Given the description of an element on the screen output the (x, y) to click on. 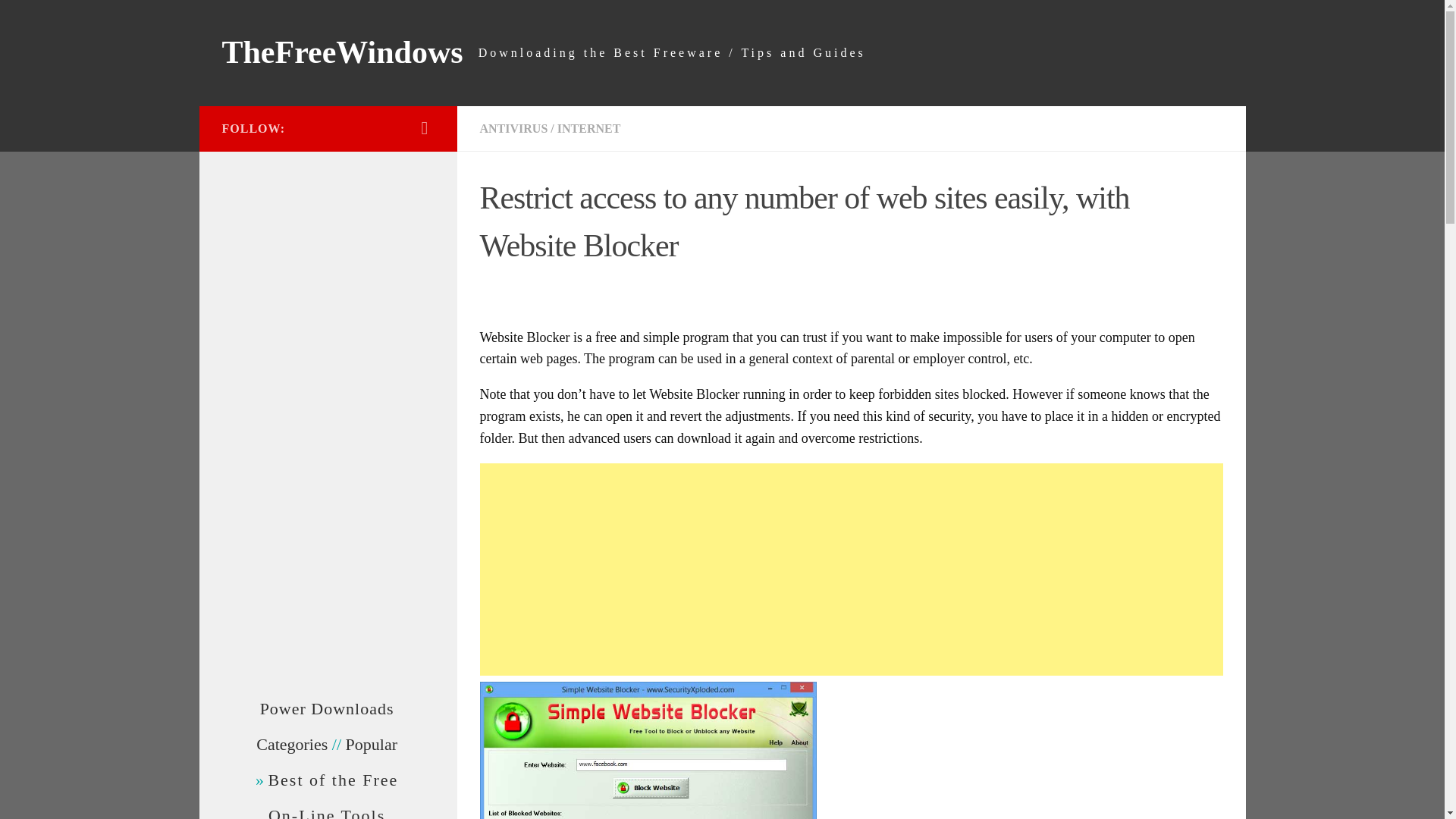
ANTIVIRUS (513, 128)
TheFreeWindows (342, 53)
Freeware Categories (291, 743)
Freeware by TheFreeWindows (327, 708)
Free On Line Tools (326, 812)
Popular Freeware (371, 743)
Follow us on Twitter (423, 127)
INTERNET (589, 128)
Skip to content (59, 20)
The Best Free Applications (332, 779)
